Given the description of an element on the screen output the (x, y) to click on. 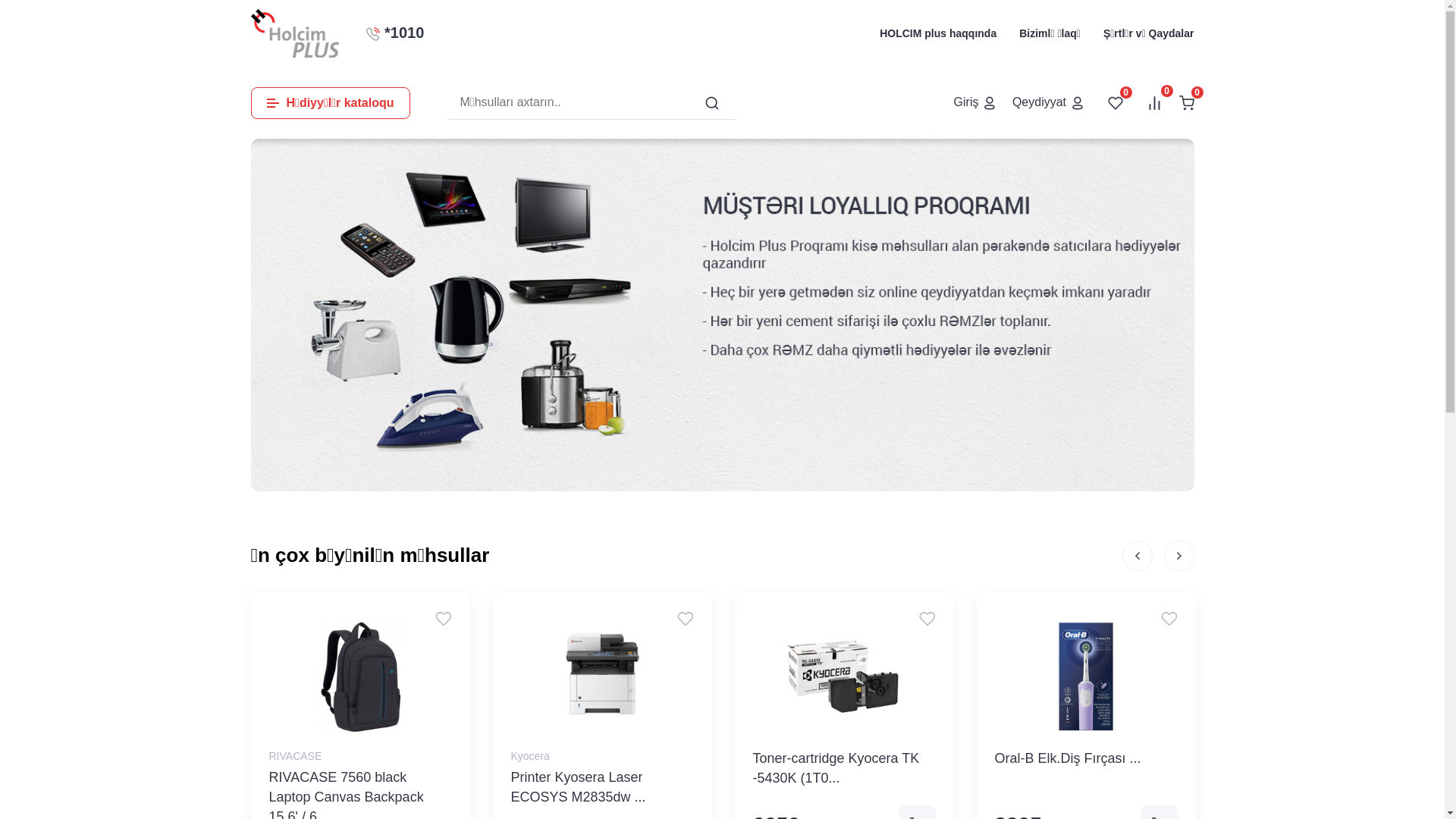
Printer Kyosera Laser ECOSYS M2835dw ... Element type: text (602, 788)
0 Element type: text (1185, 101)
0 Element type: text (1114, 101)
0 Element type: text (1154, 101)
Toner-cartridge Kyocera TK -5430K (1T0... Element type: text (843, 769)
Qeydiyyat Element type: text (1048, 101)
